Given the description of an element on the screen output the (x, y) to click on. 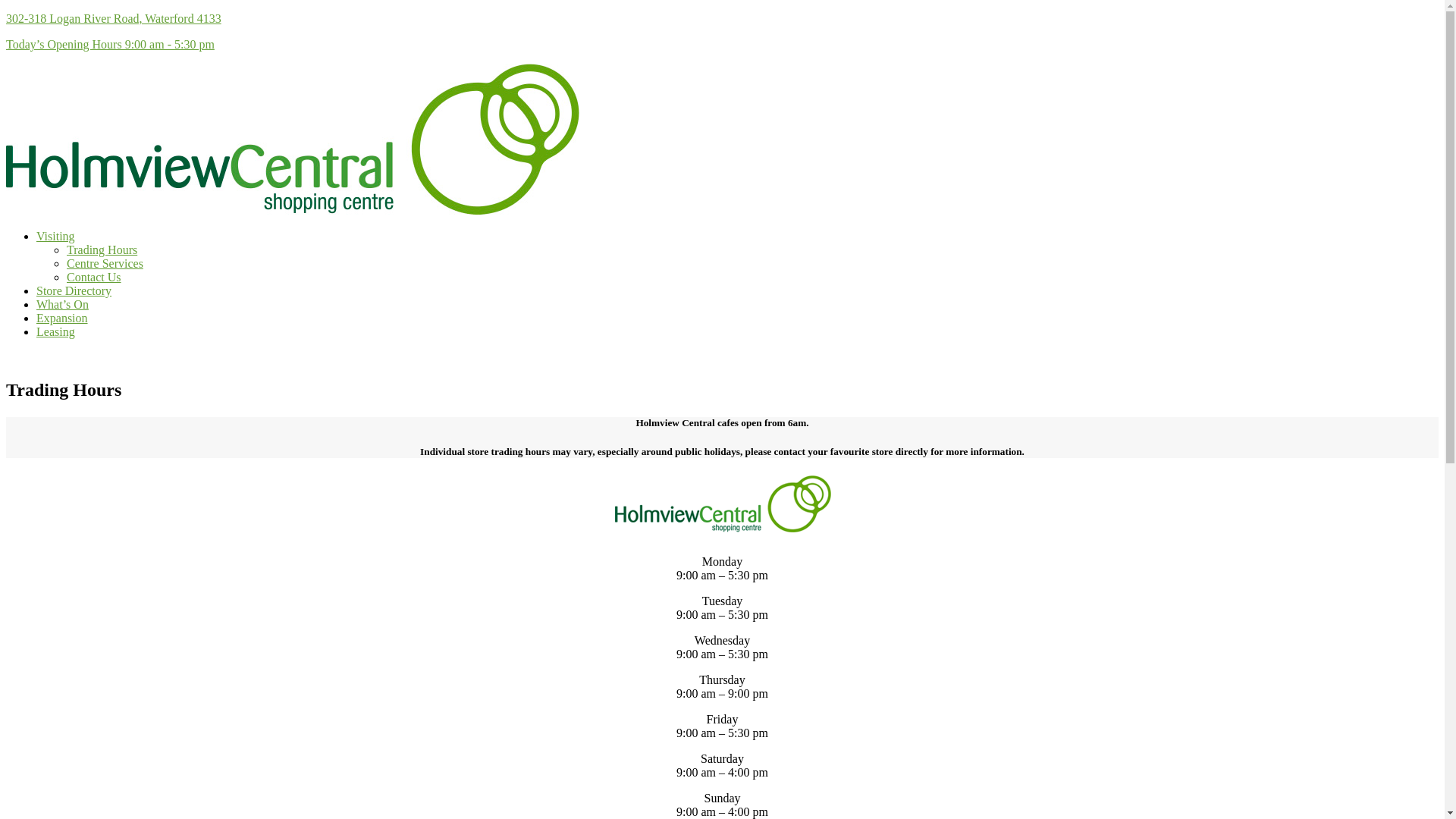
Store Directory Element type: text (73, 290)
Expansion Element type: text (61, 317)
Leasing Element type: text (55, 331)
Contact Us Element type: text (93, 276)
Centre Services Element type: text (104, 263)
302-318 Logan River Road, Waterford 4133 Element type: text (113, 18)
Trading Hours Element type: text (101, 249)
Visiting Element type: text (55, 235)
